Given the description of an element on the screen output the (x, y) to click on. 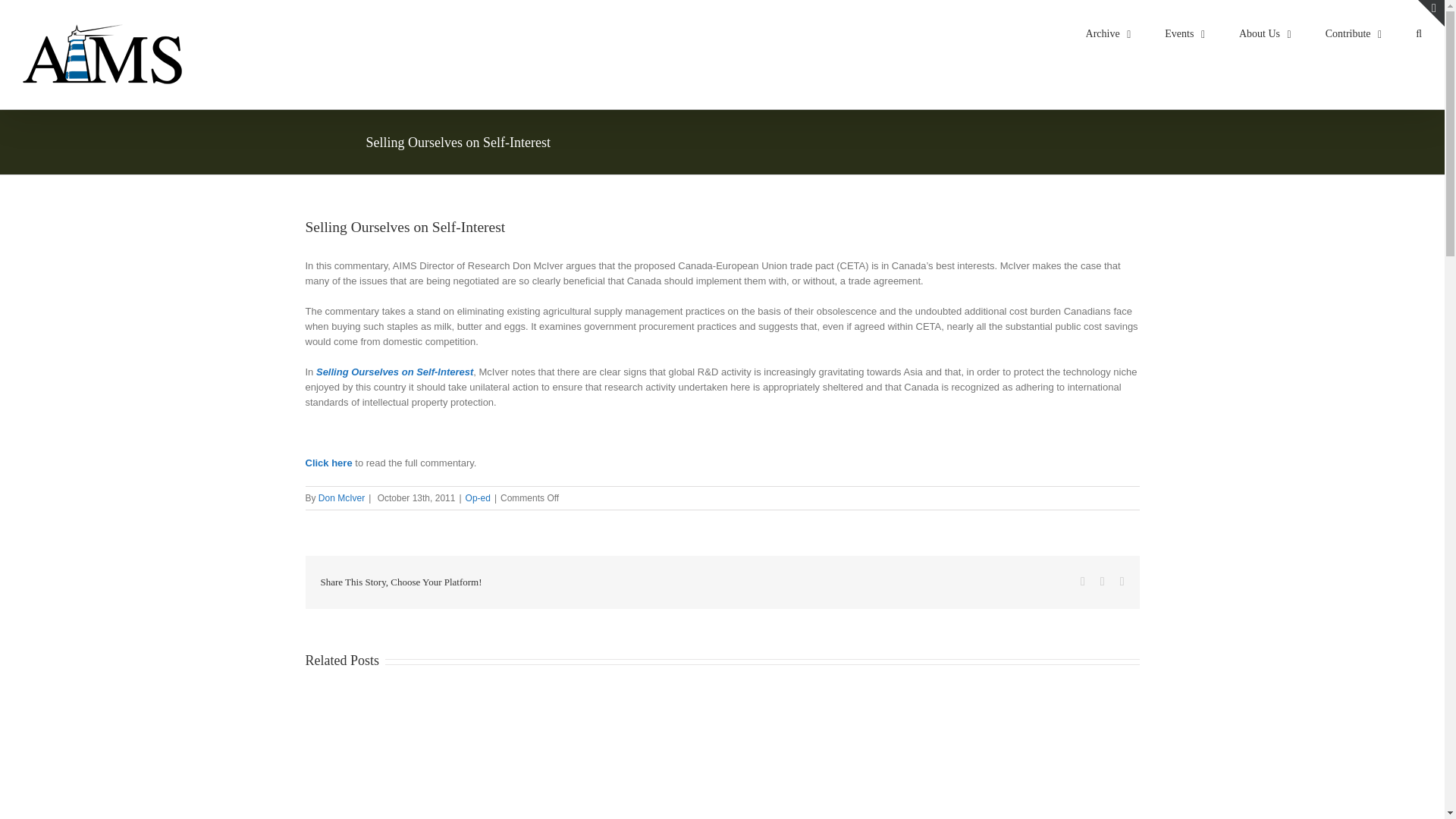
Don McIver (341, 498)
Click here (328, 462)
Op-ed (477, 498)
SellingOurselvesonSelfInterest (394, 371)
Selling Ourselves on Self-Interest (394, 371)
SellingOurselvesonSelfInterest (328, 462)
Posts by Don McIver (341, 498)
